Given the description of an element on the screen output the (x, y) to click on. 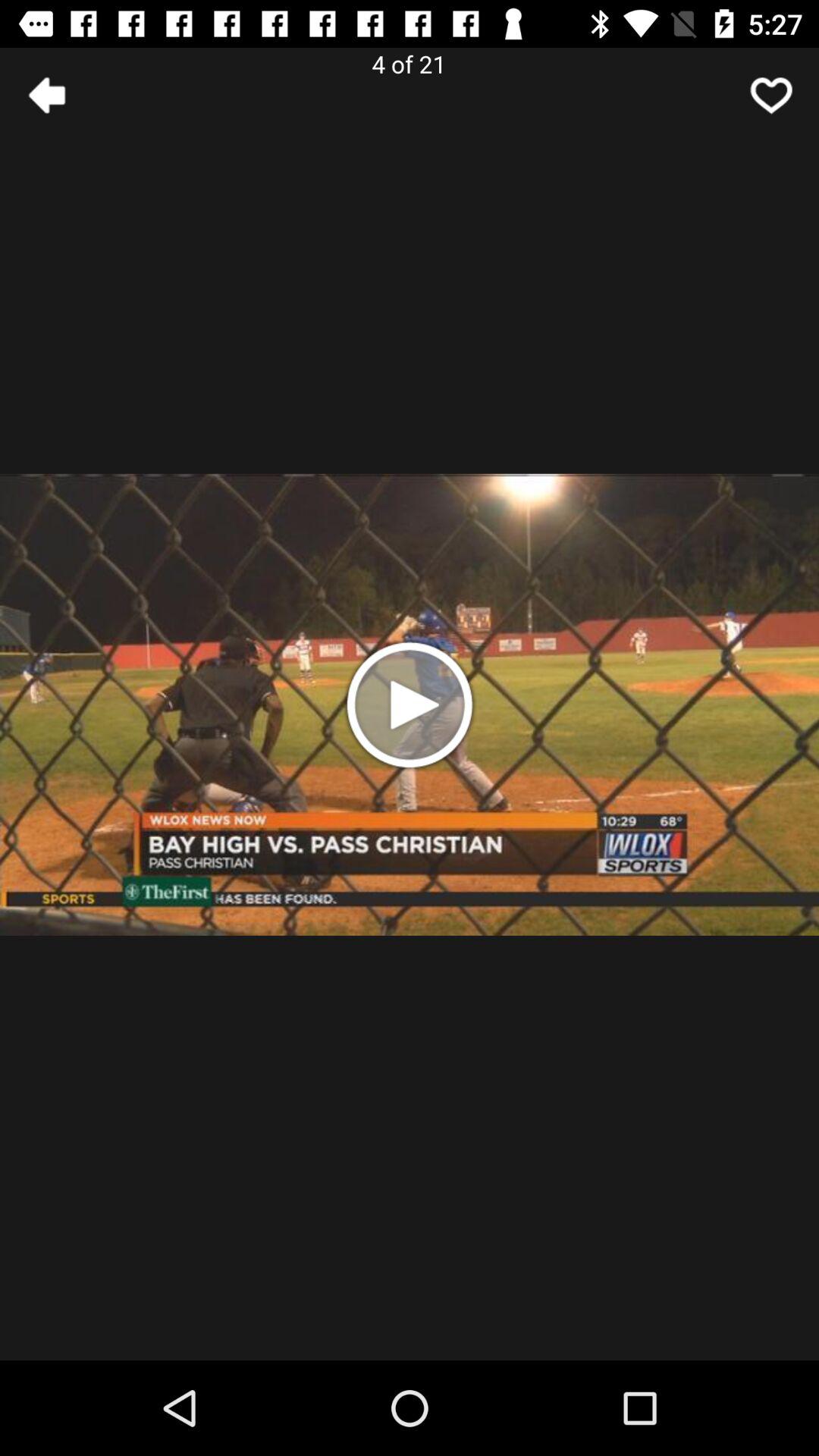
click arrow button (771, 95)
